Given the description of an element on the screen output the (x, y) to click on. 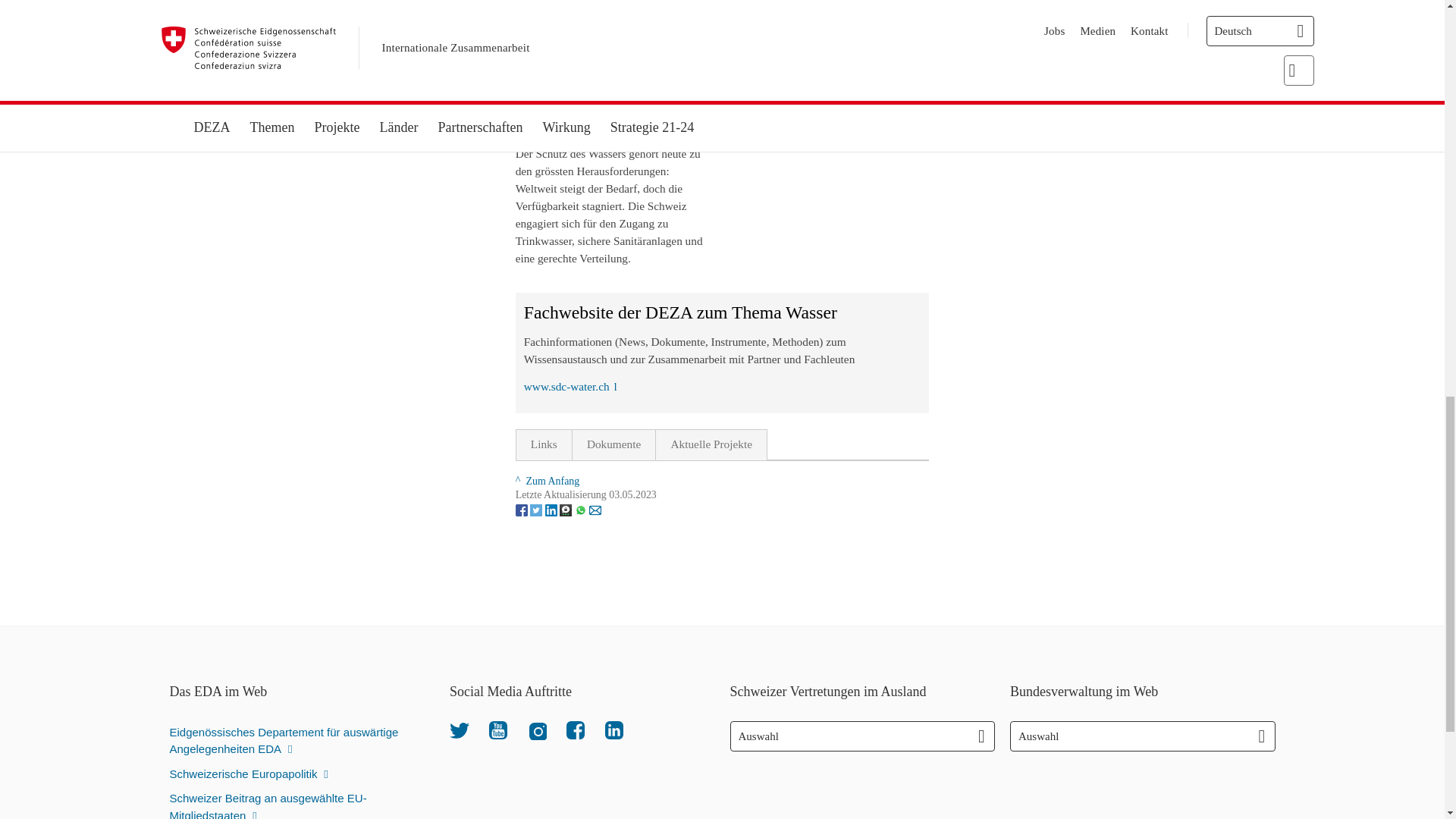
Twitter (458, 730)
Facebook (575, 730)
Externer Link (573, 126)
Instagram (537, 730)
Externer Link (570, 386)
LinkedIn (614, 730)
